Given the description of an element on the screen output the (x, y) to click on. 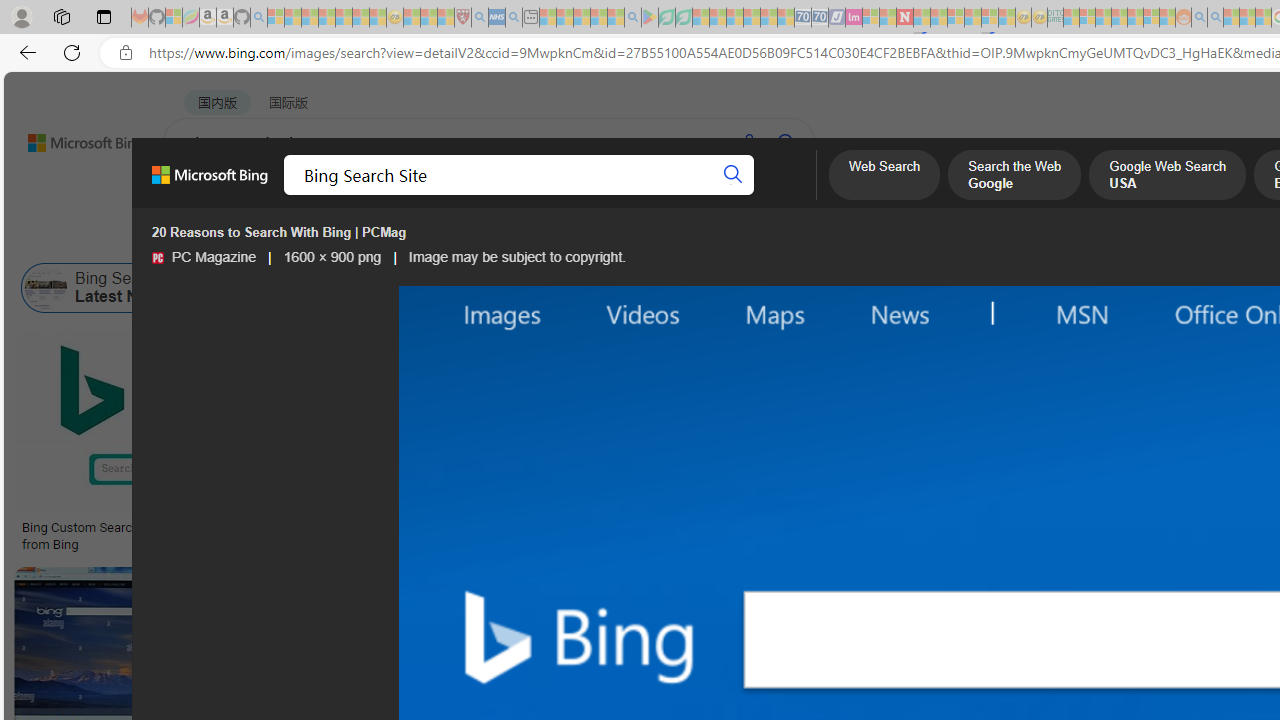
Web Search (883, 177)
DICT (717, 195)
Show Bing Search Engine (811, 287)
Type (373, 237)
Microsoft Bing Search (1195, 287)
Type (372, 237)
